Given the description of an element on the screen output the (x, y) to click on. 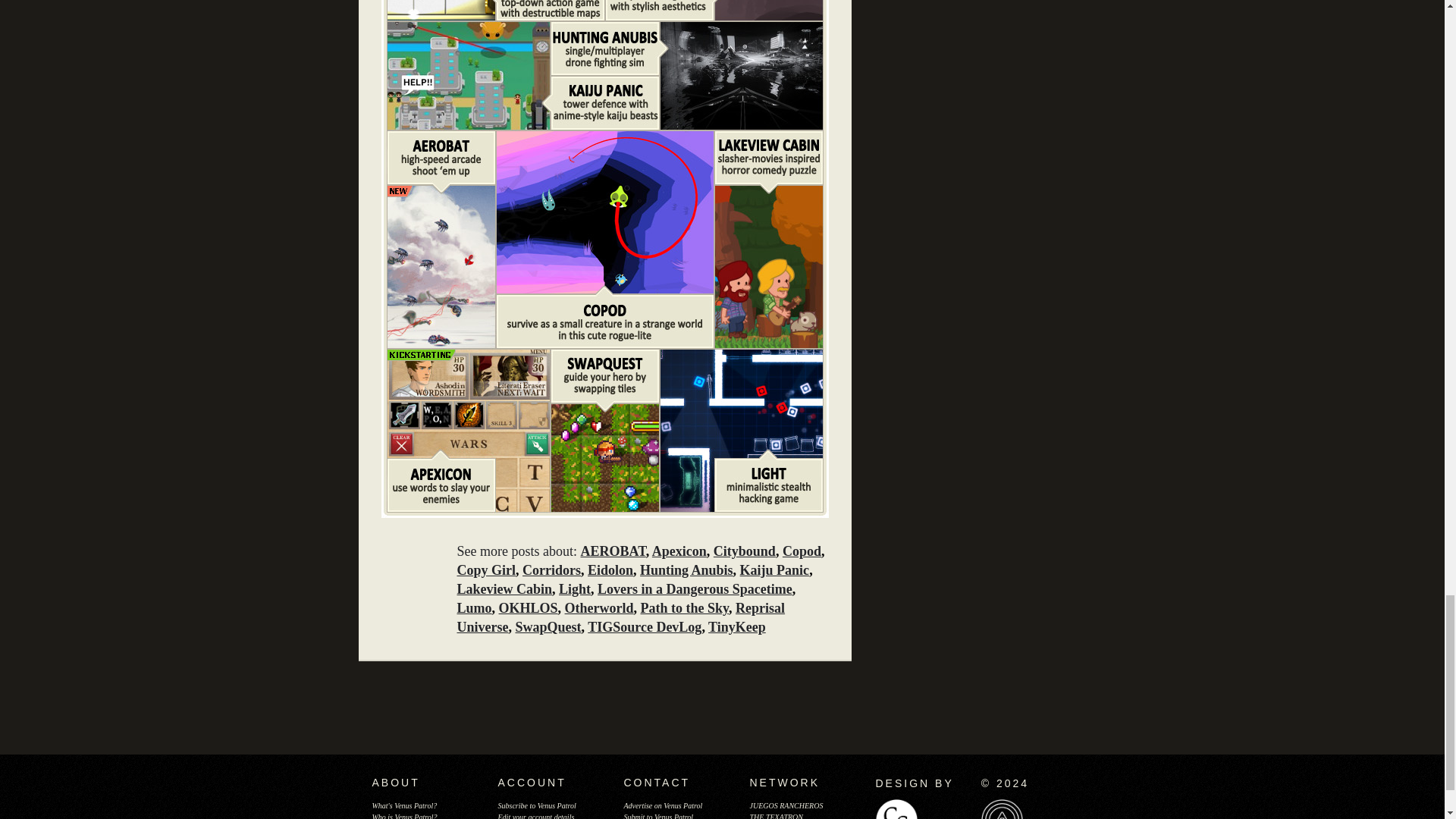
Copod on TIGSource forums (603, 210)
Eidolon on TIGSource forums (767, 9)
Hunting Anubis on TIGSource forums (740, 74)
Kaiju Panic on TIGSource forums (467, 74)
Corridors of Uncertainty on TIGSource forums (440, 9)
